Given the description of an element on the screen output the (x, y) to click on. 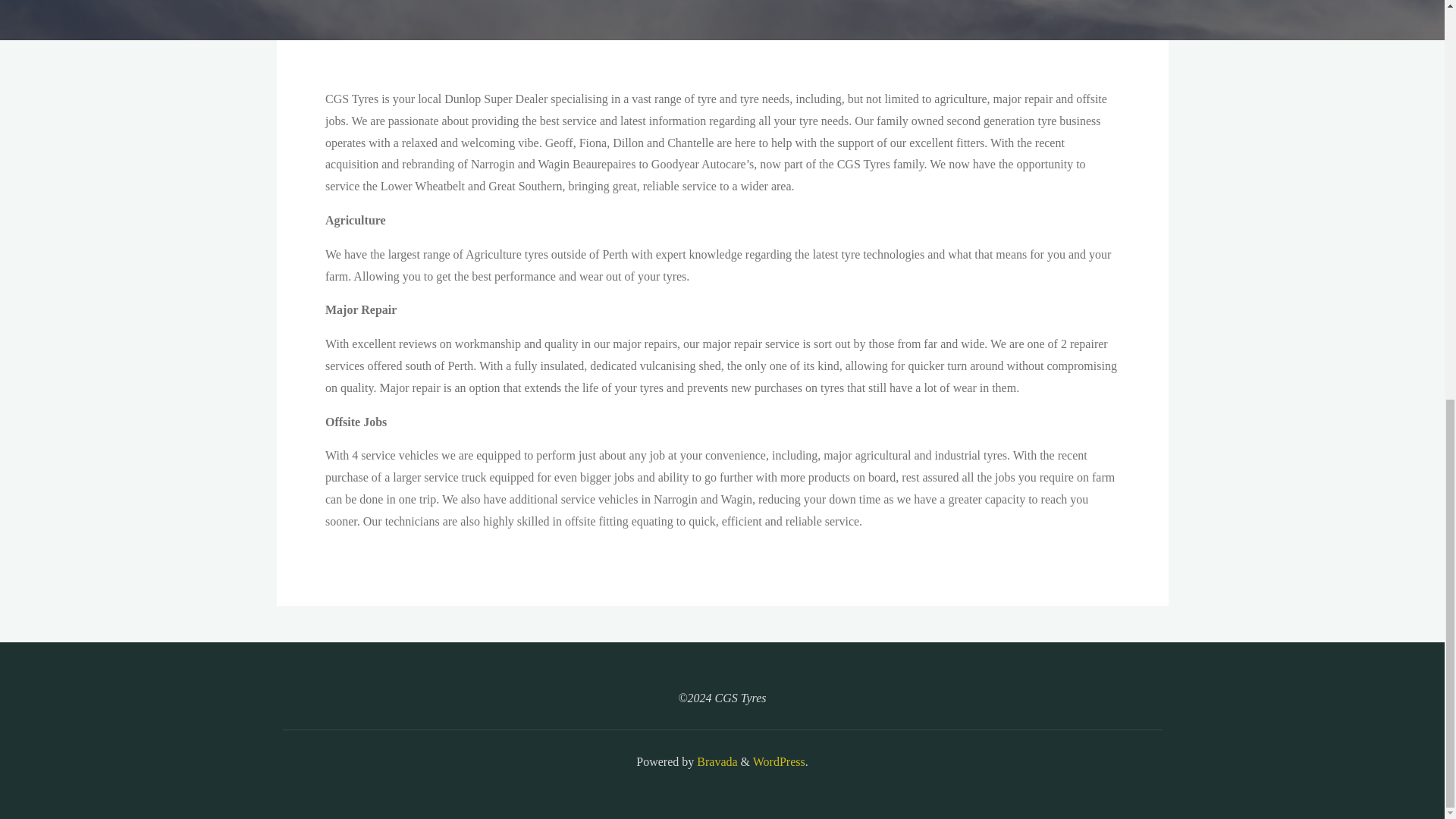
Semantic Personal Publishing Platform (778, 761)
Bravada (715, 761)
Bravada WordPress Theme by Cryout Creations (715, 761)
WordPress (778, 761)
